Given the description of an element on the screen output the (x, y) to click on. 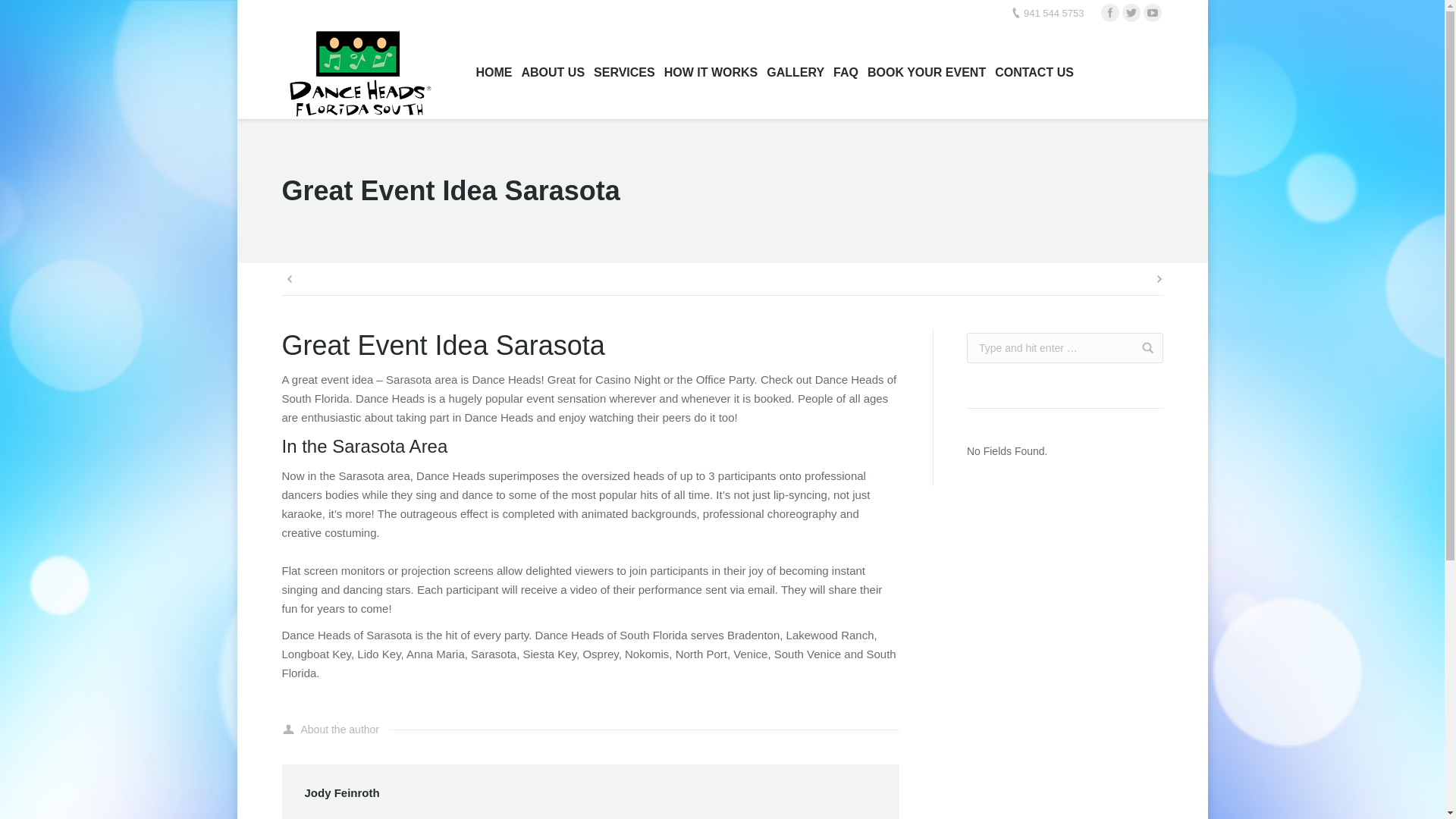
Go! (1142, 347)
Twitter (1131, 13)
Facebook (1109, 13)
YouTube (1151, 13)
CONTACT US (1034, 72)
HOME (493, 72)
BOOK YOUR EVENT (926, 72)
SERVICES (624, 72)
HOW IT WORKS (710, 72)
FAQ (845, 72)
Go! (1142, 347)
GALLERY (795, 72)
ABOUT US (552, 72)
